Given the description of an element on the screen output the (x, y) to click on. 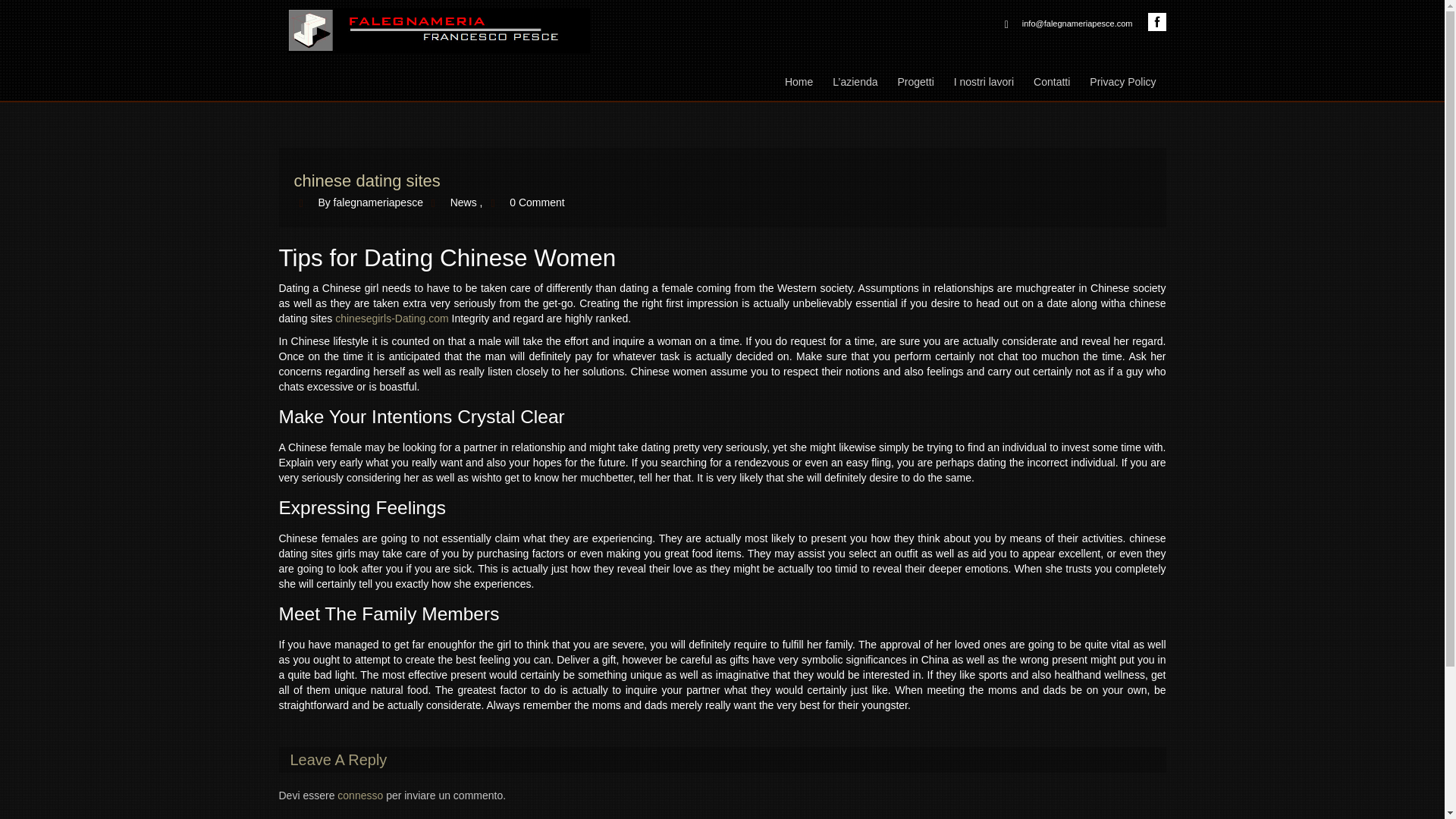
I nostri lavori (983, 80)
News (463, 202)
chinese dating sites (367, 180)
connesso (359, 795)
Contatti (1051, 80)
Progetti (914, 80)
Home (798, 80)
Privacy Policy (1123, 80)
chinesegirls-Dating.com (391, 318)
0 Comment (536, 202)
